Given the description of an element on the screen output the (x, y) to click on. 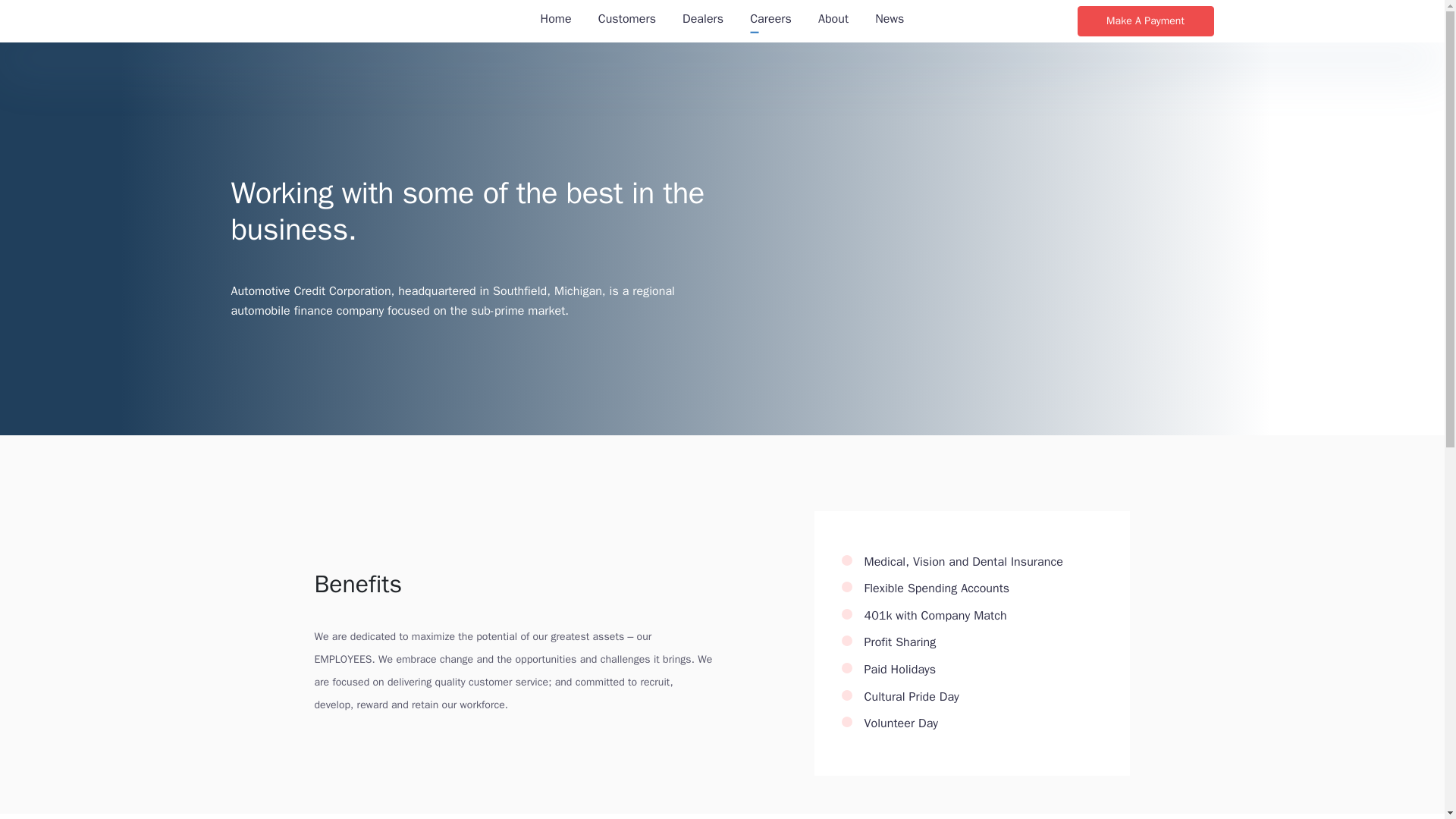
News (889, 21)
Customers (627, 21)
Make A Payment (1144, 20)
Dealers (702, 21)
Home (556, 21)
About (833, 21)
Careers (770, 21)
